Given the description of an element on the screen output the (x, y) to click on. 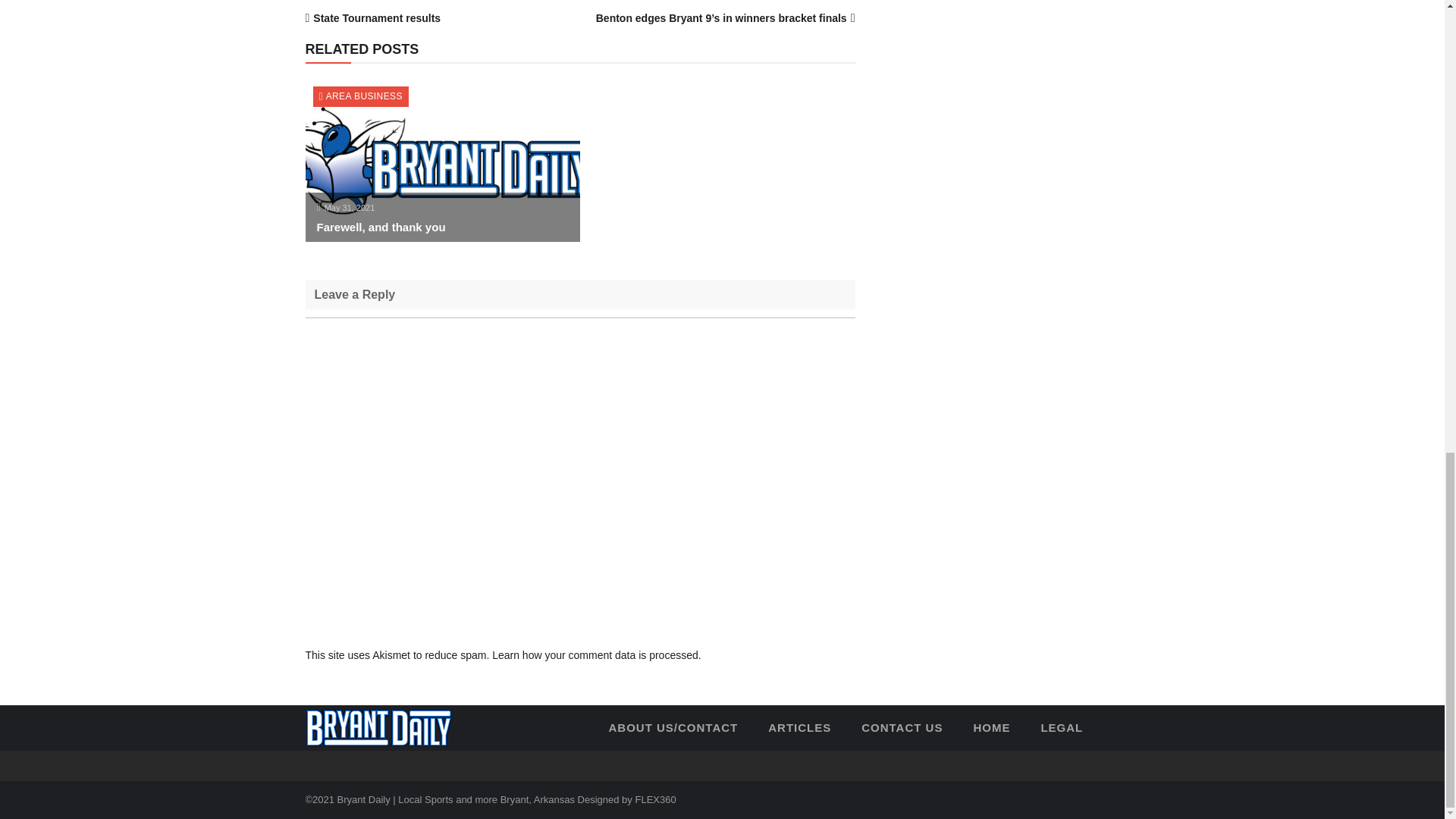
Farewell, and thank you (381, 226)
State Tournament results (377, 18)
AREA BUSINESS (364, 95)
Learn how your comment data is processed (595, 654)
